Given the description of an element on the screen output the (x, y) to click on. 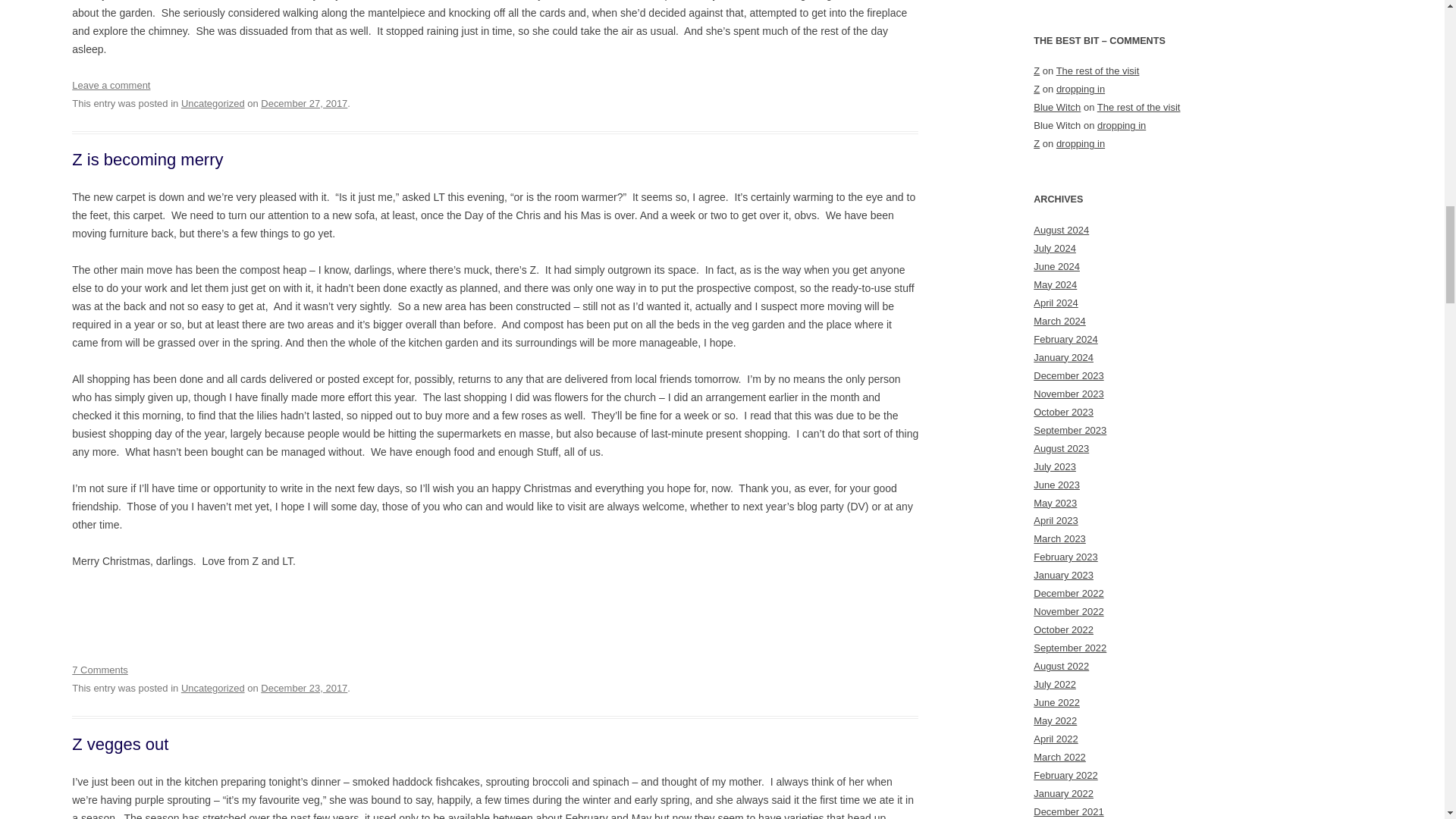
December 27, 2017 (303, 102)
Uncategorized (212, 102)
Leave a comment (110, 84)
10:14 pm (303, 102)
December 23, 2017 (303, 687)
Z is becoming merry (146, 158)
Uncategorized (212, 687)
Z vegges out (119, 743)
10:04 pm (303, 687)
7 Comments (99, 669)
